Given the description of an element on the screen output the (x, y) to click on. 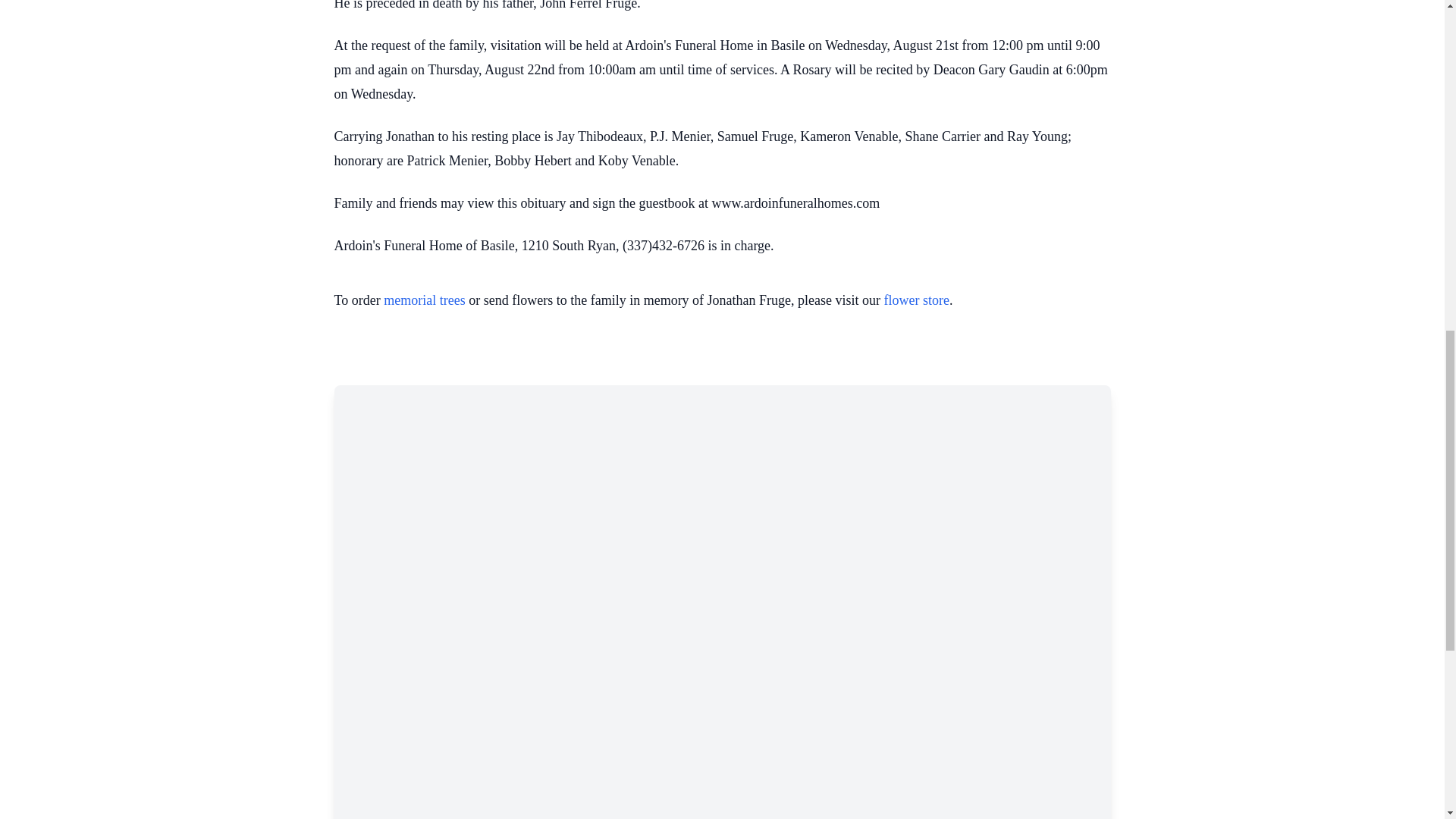
flower store (916, 299)
memorial trees (424, 299)
